Given the description of an element on the screen output the (x, y) to click on. 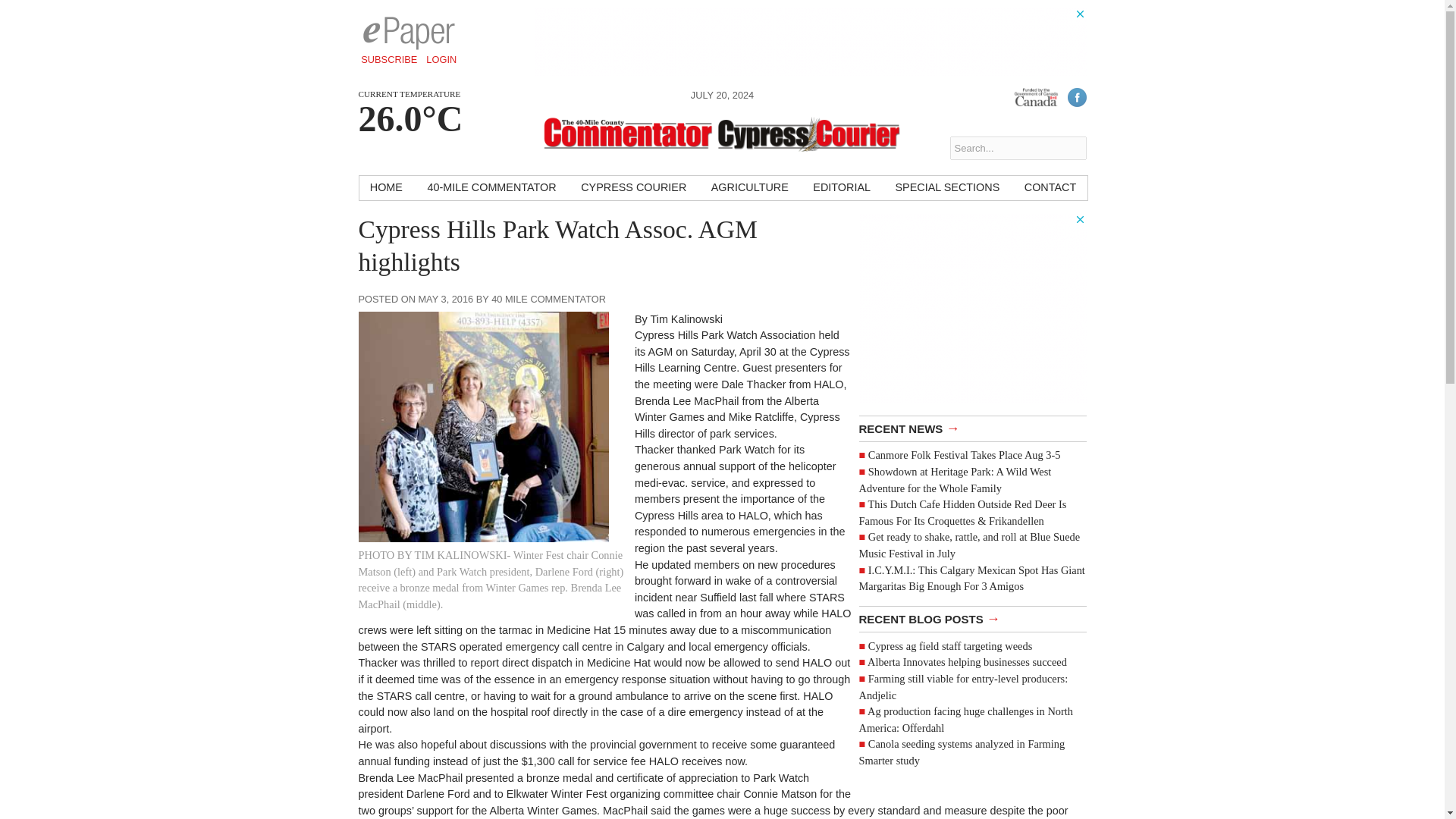
EDITORIAL (841, 187)
Canola seeding systems analyzed in Farming Smarter study (961, 751)
3rd party ad content (810, 41)
3rd party ad content (972, 307)
Cypress ag field staff targeting weeds (949, 645)
HOME (386, 187)
40-MILE COMMENTATOR (491, 187)
CYPRESS COURIER (633, 187)
Farming still viable for entry-level producers: Andjelic (963, 686)
CONTACT (1049, 187)
Canmore Folk Festival Takes Place Aug 3-5 (964, 454)
